Given the description of an element on the screen output the (x, y) to click on. 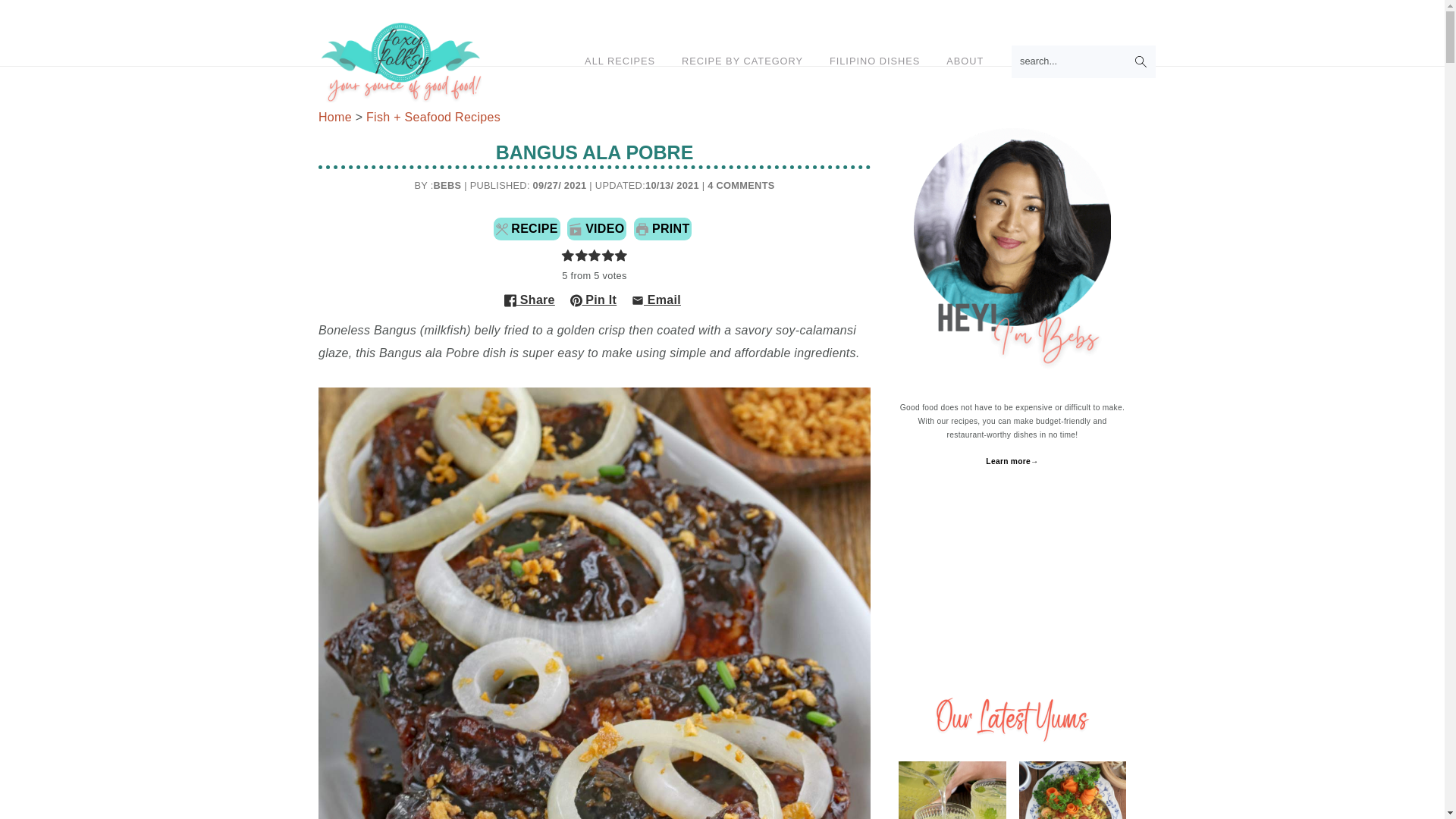
About (964, 61)
Foxy Folksy (399, 93)
ALL RECIPES (619, 61)
Recipe Index (741, 61)
Foxy Folksy (399, 60)
ABOUT (964, 61)
RECIPE BY CATEGORY (741, 61)
All Recipes (619, 61)
FILIPINO DISHES (874, 61)
